Given the description of an element on the screen output the (x, y) to click on. 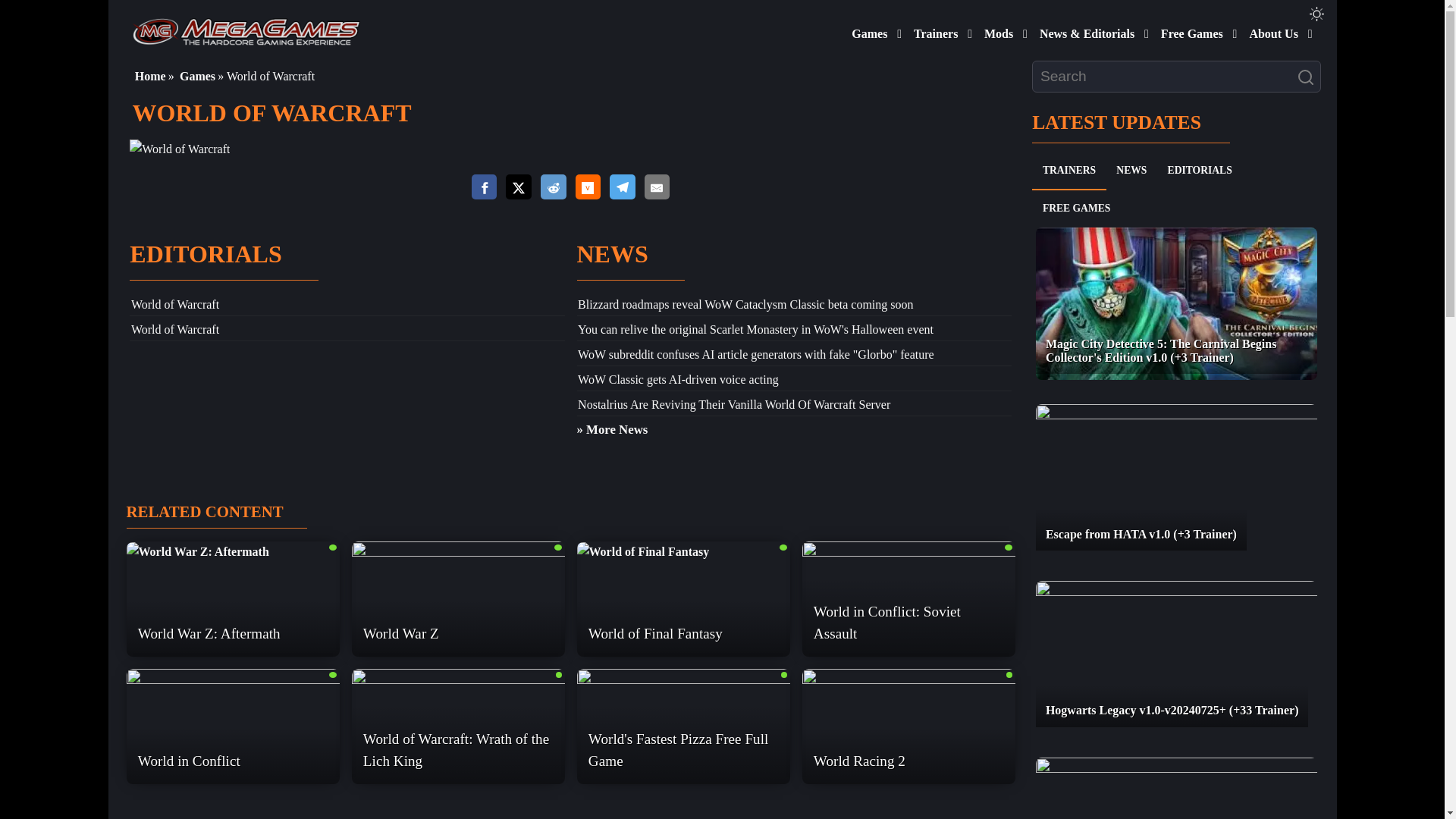
X (518, 187)
Reddit (553, 186)
Reddit Share (553, 187)
Facebook Share (484, 187)
X (518, 186)
Trainers (932, 31)
megagames.com (245, 30)
World of Warcraft (179, 148)
email (657, 186)
Games (866, 31)
Email Share (656, 187)
Hackernews (587, 186)
Facebook (484, 186)
Twitter Share (518, 188)
Telegram Share (621, 187)
